Given the description of an element on the screen output the (x, y) to click on. 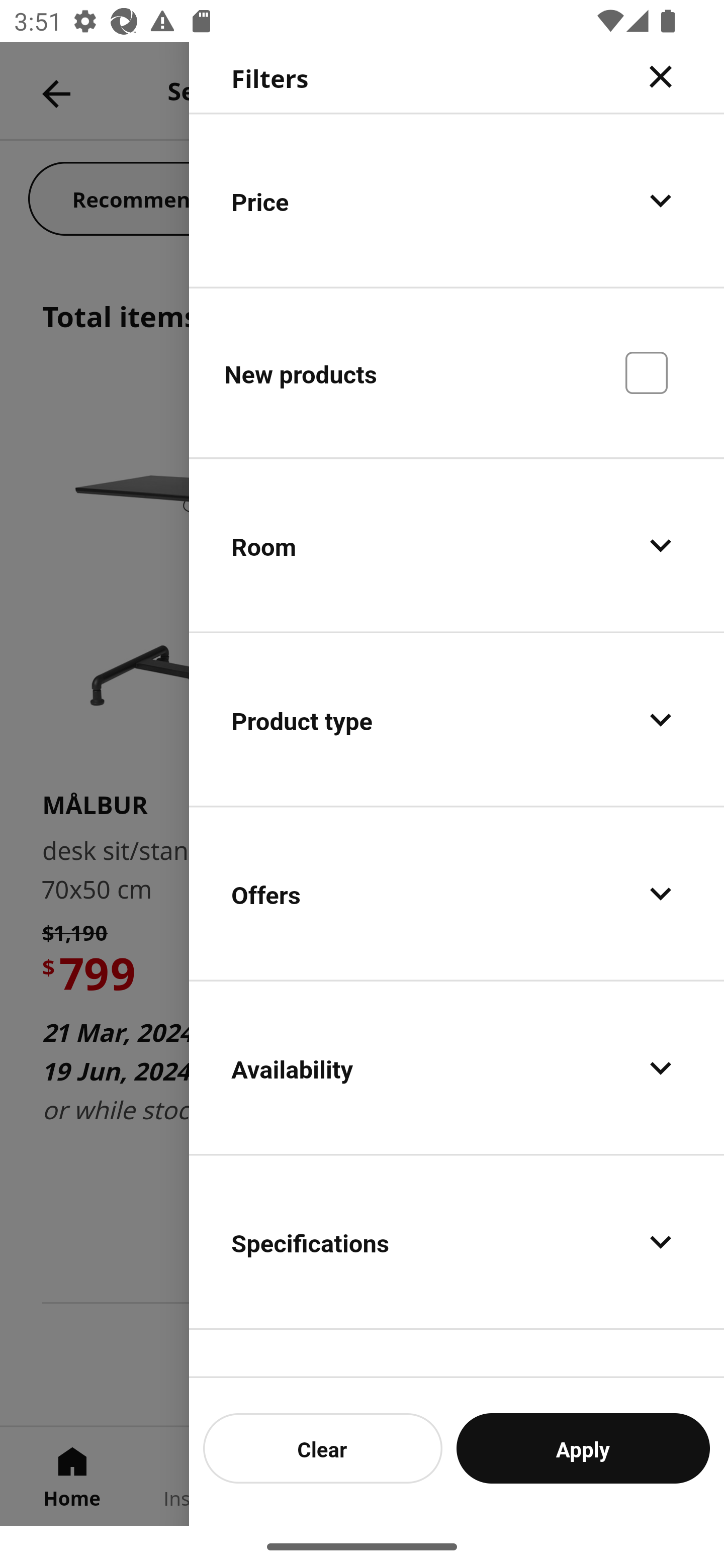
Price (456, 200)
New products (456, 371)
Room (456, 545)
Product type (456, 719)
Offers (456, 893)
Availability (456, 1067)
Specifications (456, 1241)
Clear (322, 1447)
Apply (583, 1447)
